Given the description of an element on the screen output the (x, y) to click on. 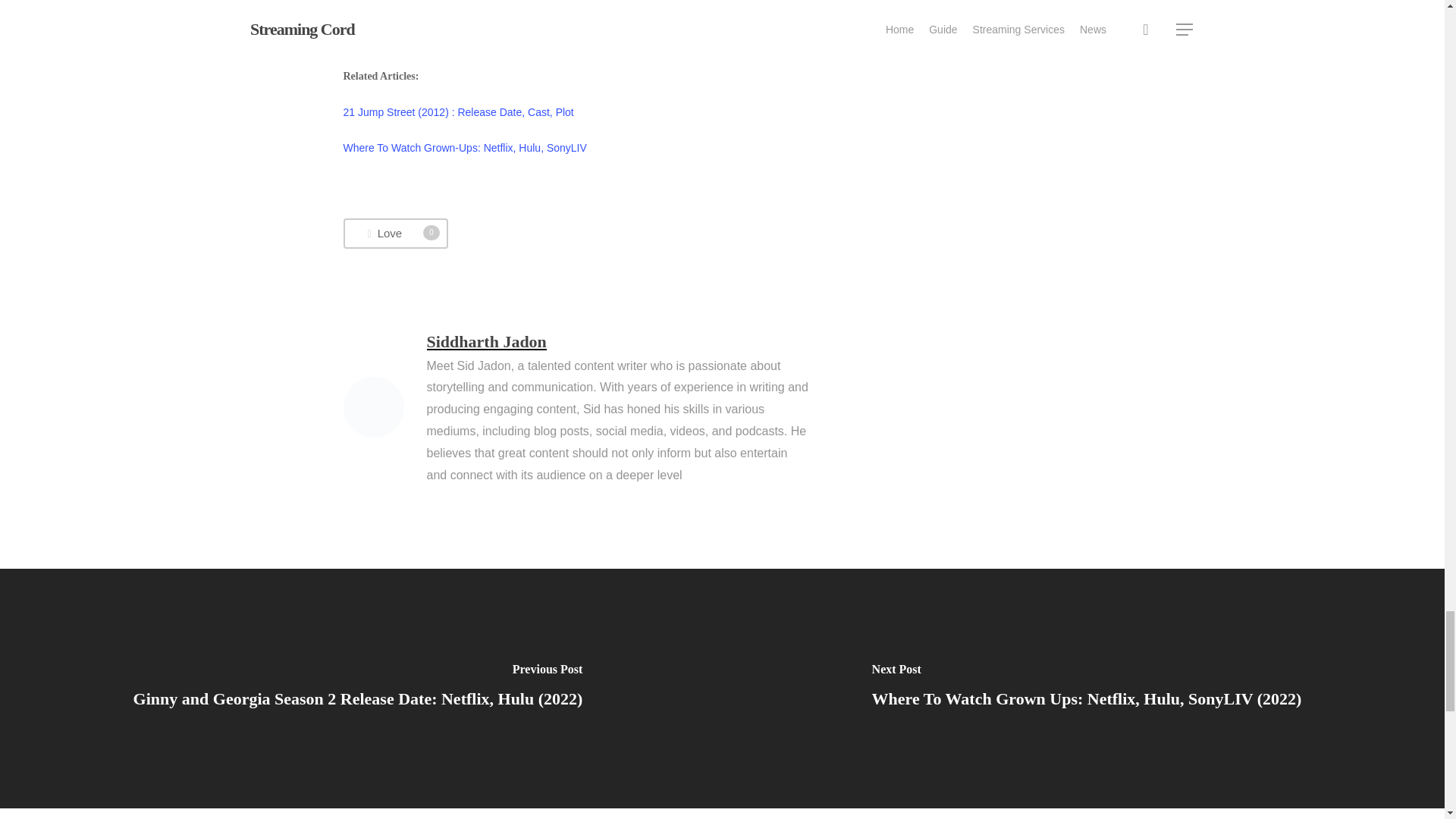
Siddharth Jadon (486, 341)
Love this (394, 233)
Where To Watch Grown-Ups: Netflix, Hulu, SonyLIV (394, 233)
